Given the description of an element on the screen output the (x, y) to click on. 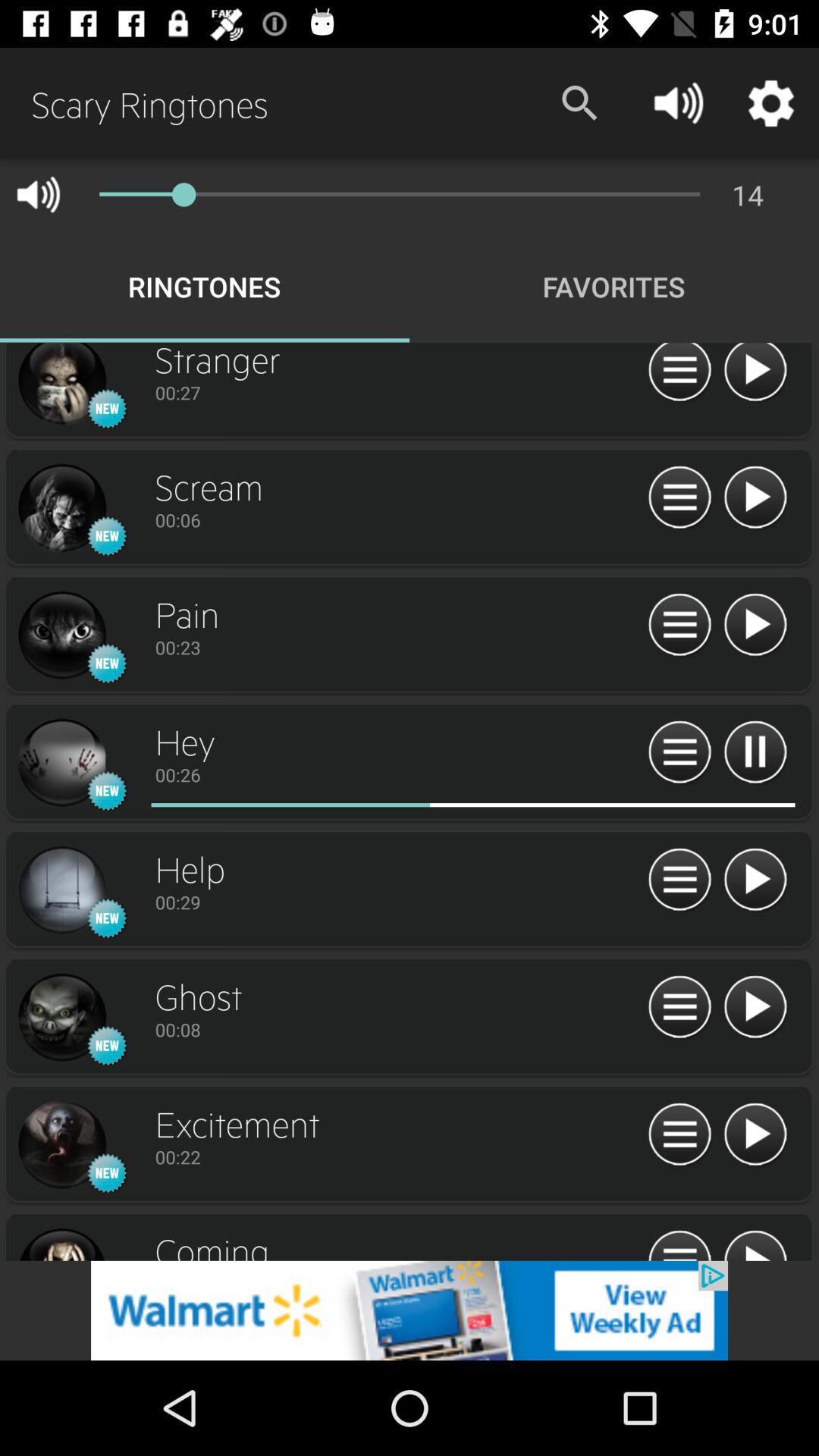
show list (679, 625)
